Given the description of an element on the screen output the (x, y) to click on. 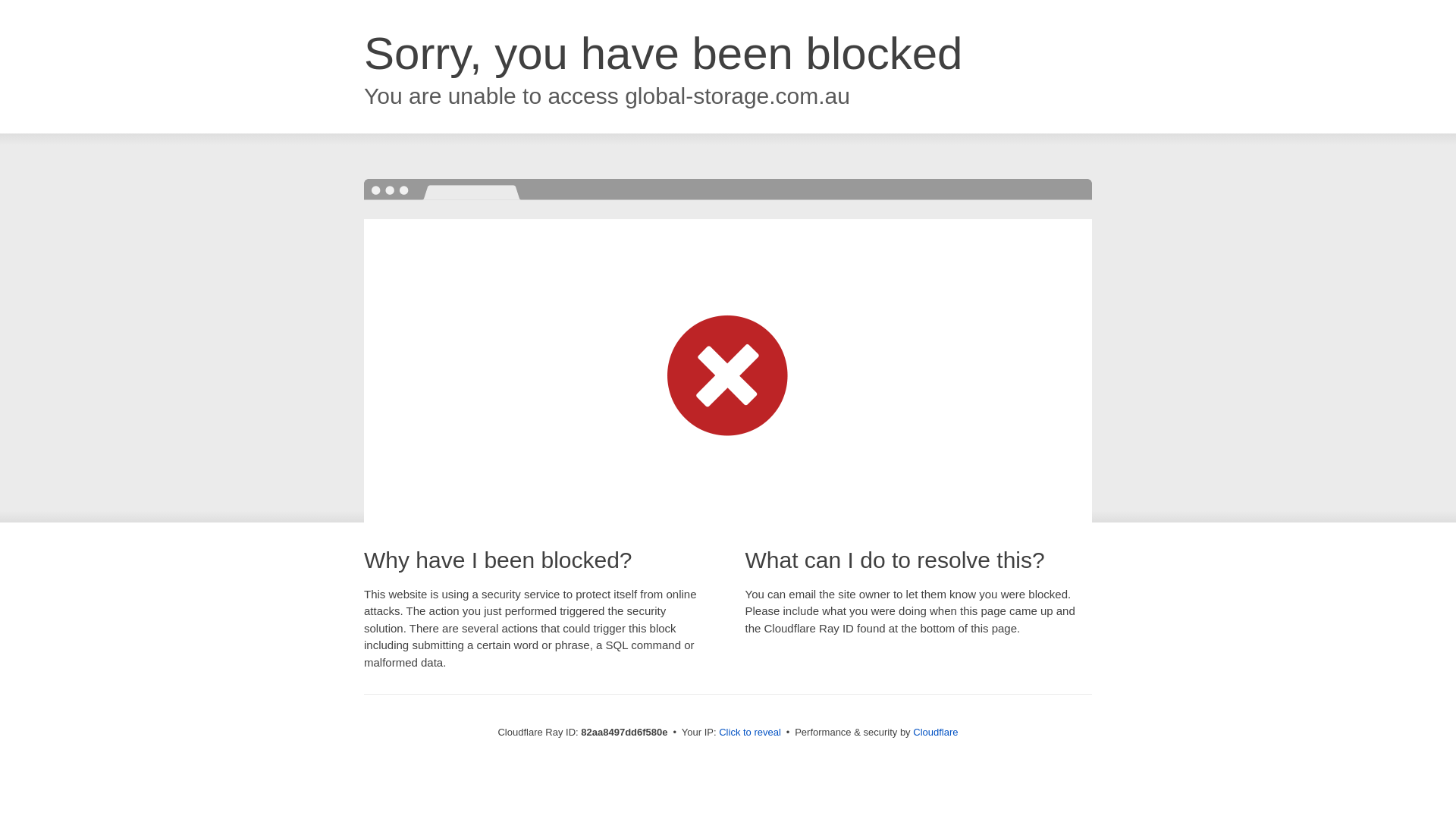
Cloudflare Element type: text (935, 731)
Click to reveal Element type: text (749, 732)
